Given the description of an element on the screen output the (x, y) to click on. 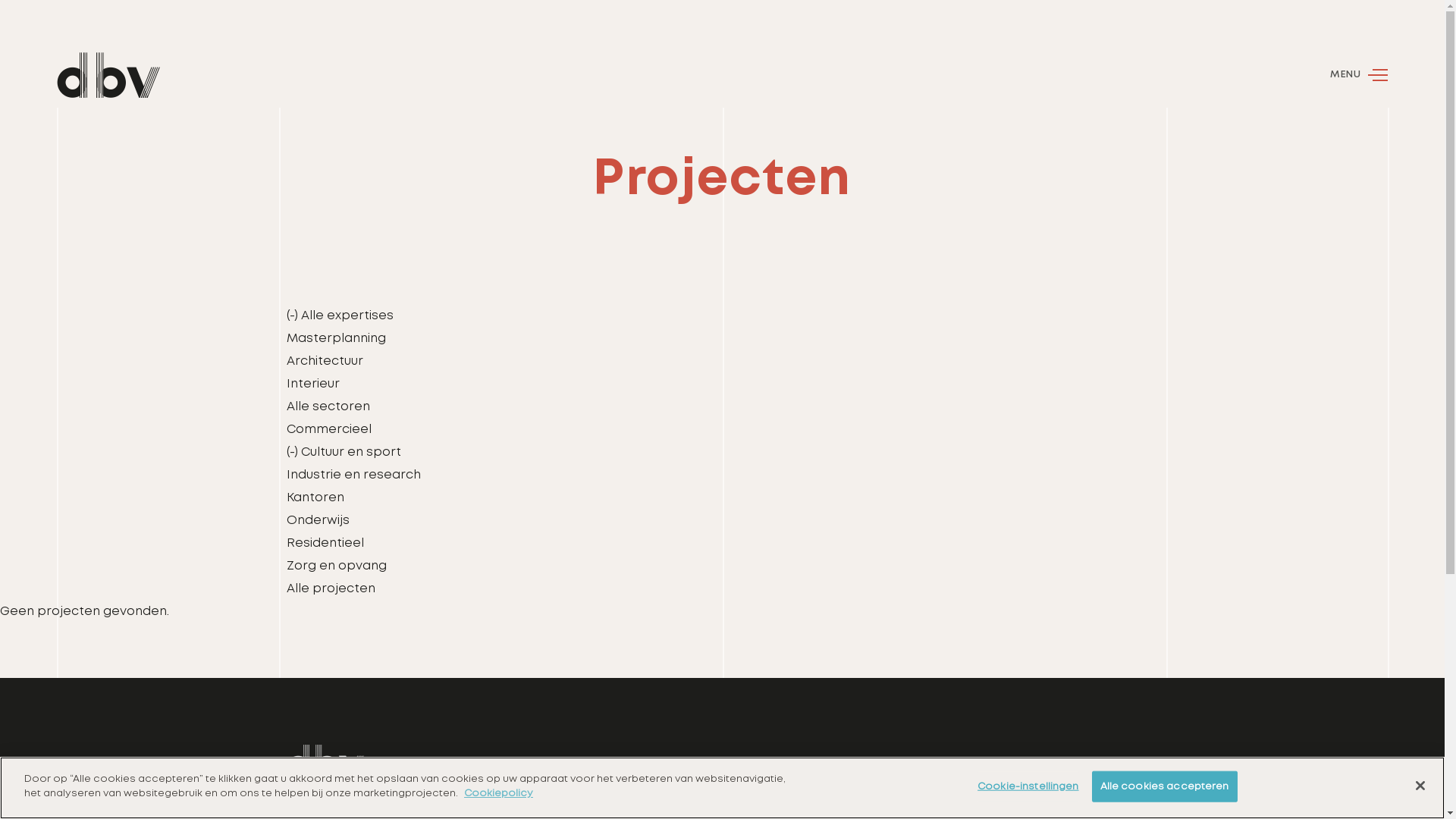
Onderwijs Element type: text (317, 520)
Zorg en opvang Element type: text (336, 565)
Alle projecten Element type: text (330, 588)
Architectuur Element type: text (324, 361)
Cookie-instellingen Element type: text (1027, 786)
(-) Alle expertises Element type: text (339, 315)
Alle cookies accepteren Element type: text (1164, 787)
(-) Cultuur en sport Element type: text (343, 452)
Kantoren Element type: text (315, 497)
Cookiepolicy Element type: text (498, 793)
Alle sectoren Element type: text (328, 406)
Overslaan en naar de inhoud gaan Element type: text (0, 0)
Masterplanning Element type: text (335, 338)
Industrie en research Element type: text (353, 474)
Interieur Element type: text (312, 383)
Residentieel Element type: text (325, 543)
Commercieel Element type: text (328, 429)
